Given the description of an element on the screen output the (x, y) to click on. 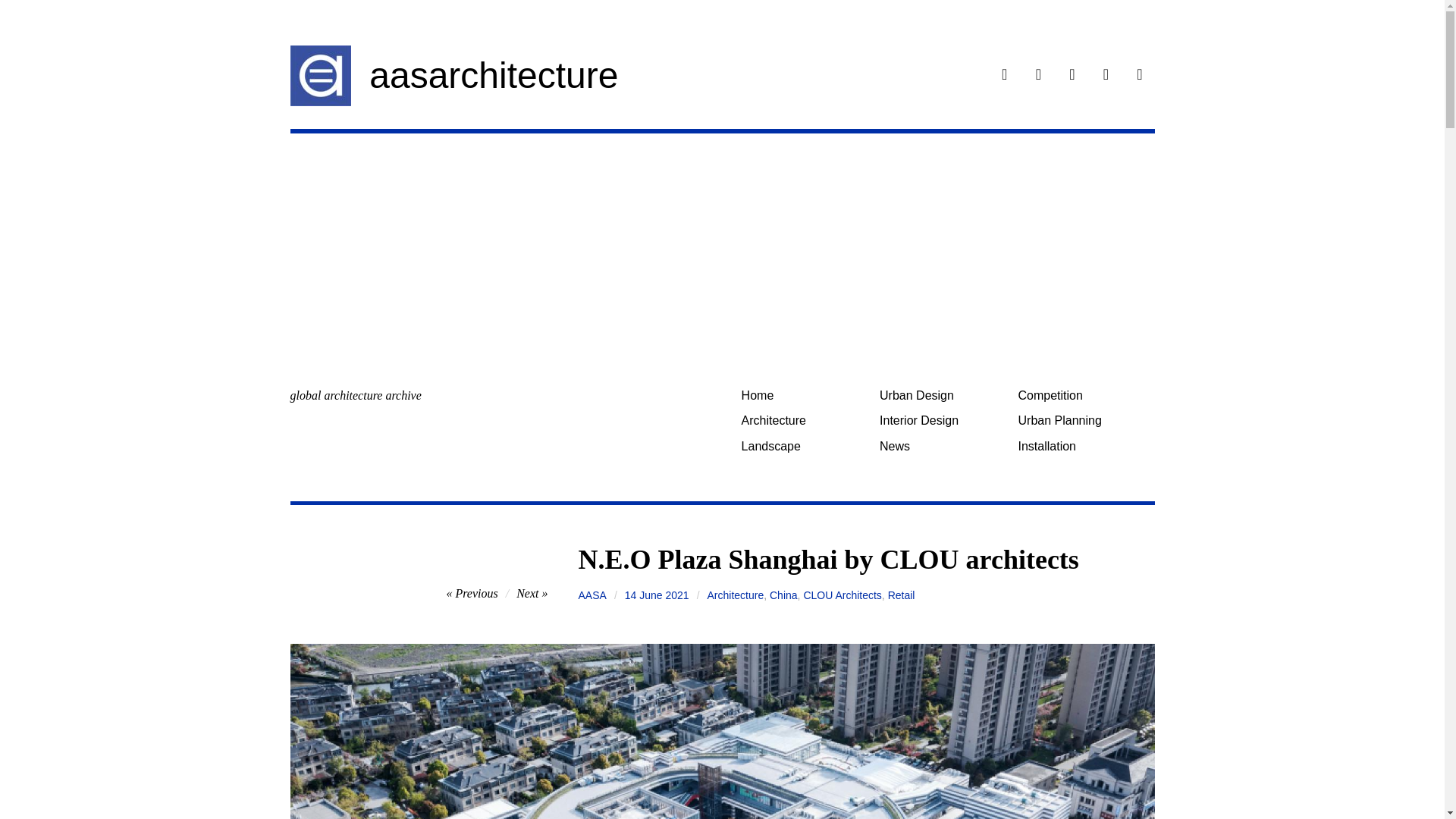
Urban Design (942, 395)
AASA (592, 595)
Pinterest (1105, 75)
Retail (901, 595)
Instagram (1038, 75)
Competition (1080, 395)
Architecture (804, 420)
aasarchitecture (493, 75)
China (783, 595)
Next (531, 593)
14 June 2021 (656, 595)
Urban Planning (1080, 420)
Architecture (735, 595)
Twitter (1071, 75)
